Given the description of an element on the screen output the (x, y) to click on. 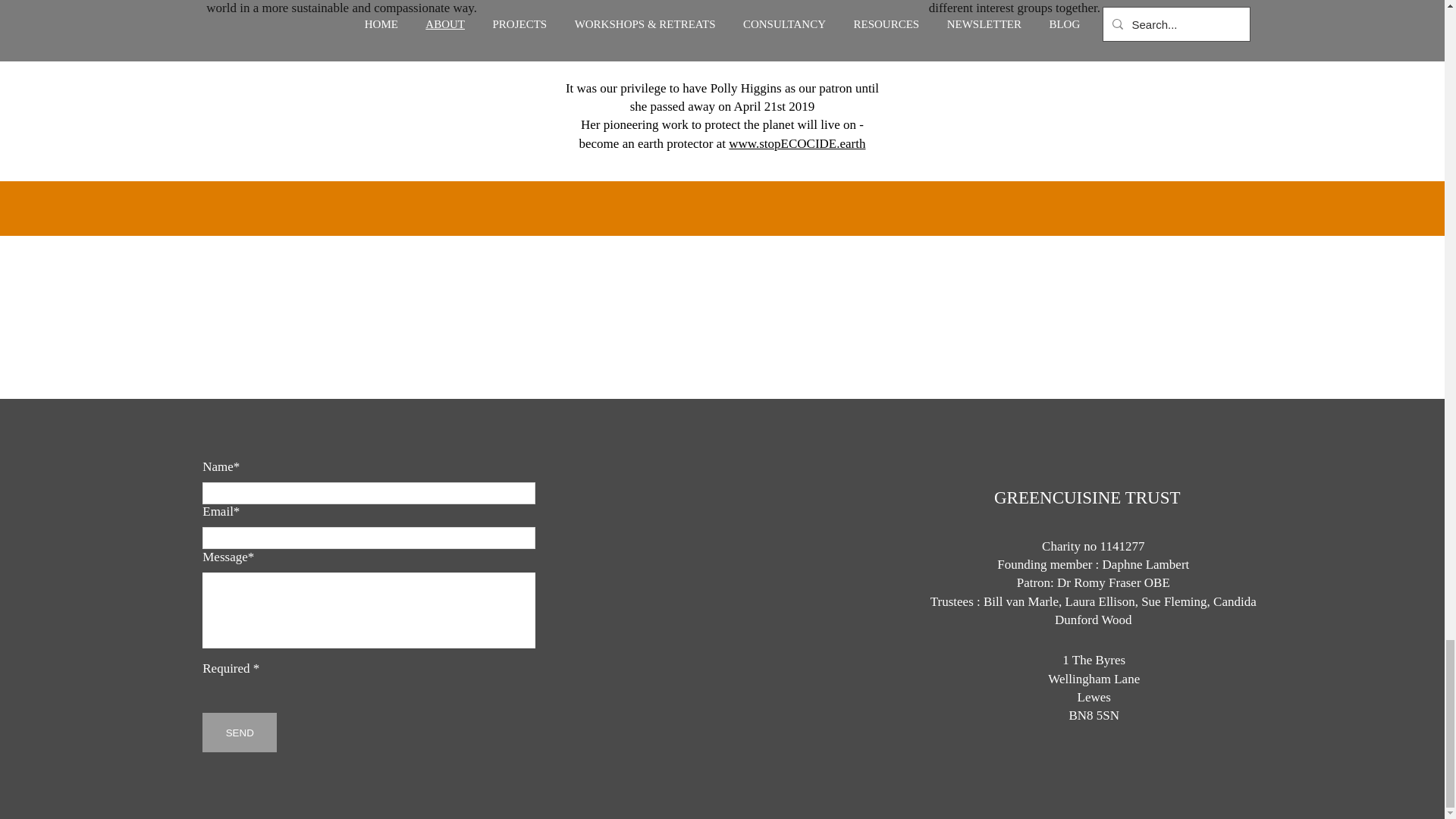
SEND (239, 732)
www.stopECOCIDE.earth (796, 143)
